Given the description of an element on the screen output the (x, y) to click on. 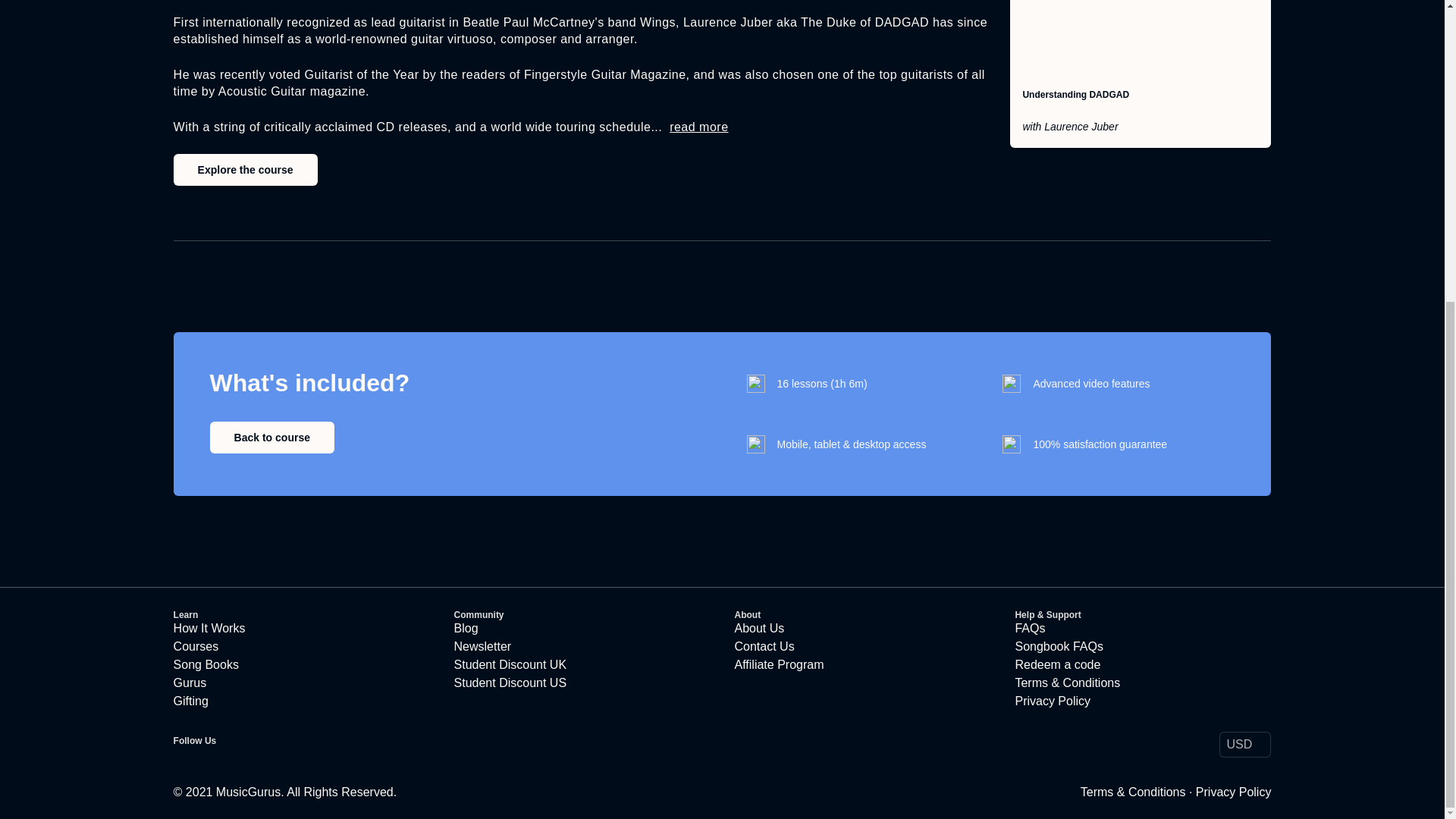
read more (698, 126)
Understanding DADGAD (1075, 94)
Explore the course (245, 169)
Back to course (271, 437)
